Given the description of an element on the screen output the (x, y) to click on. 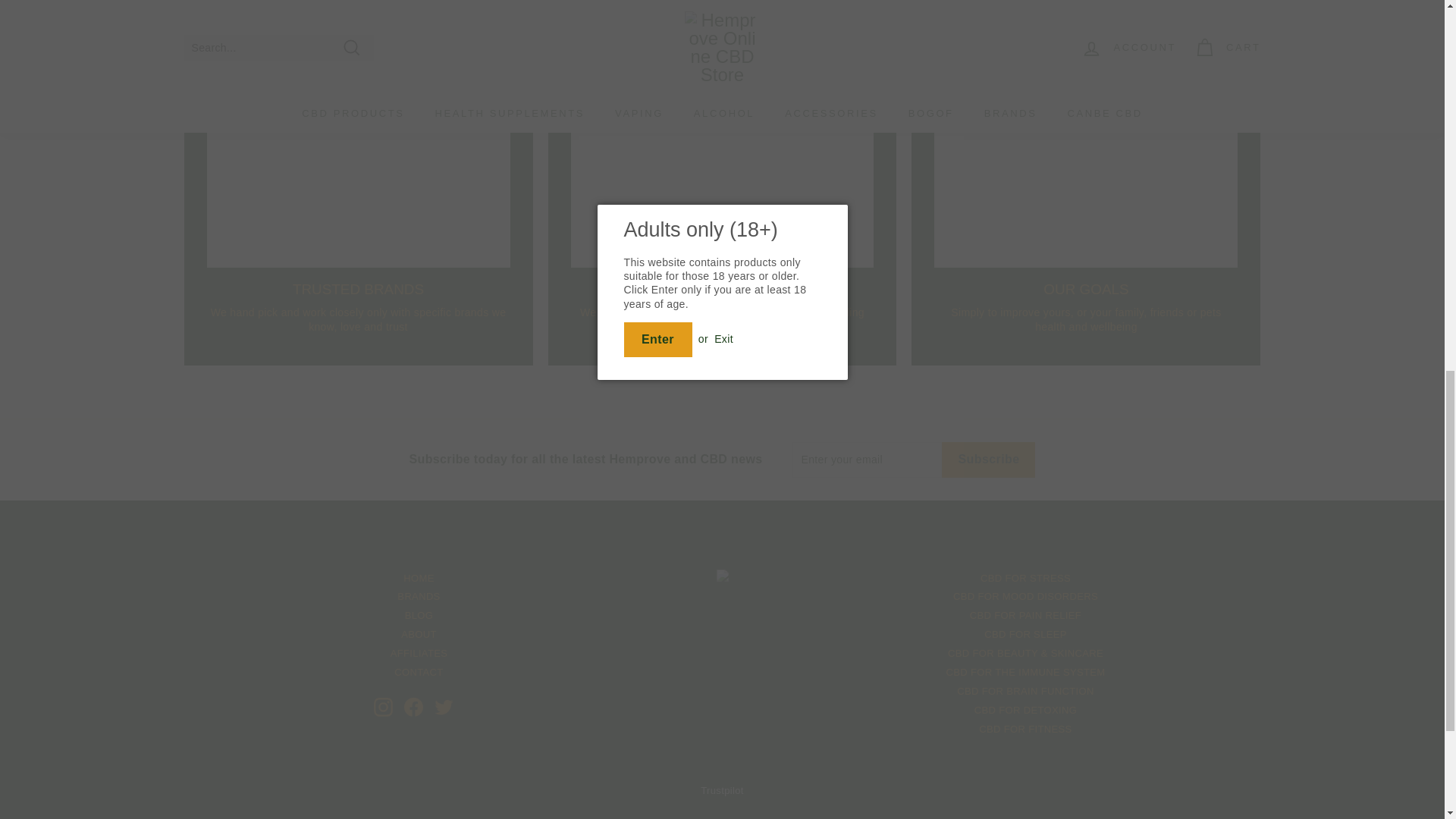
Hemprove UK on Facebook (412, 706)
Hemprove UK on Instagram (381, 706)
Hemprove UK on Twitter (442, 706)
